Given the description of an element on the screen output the (x, y) to click on. 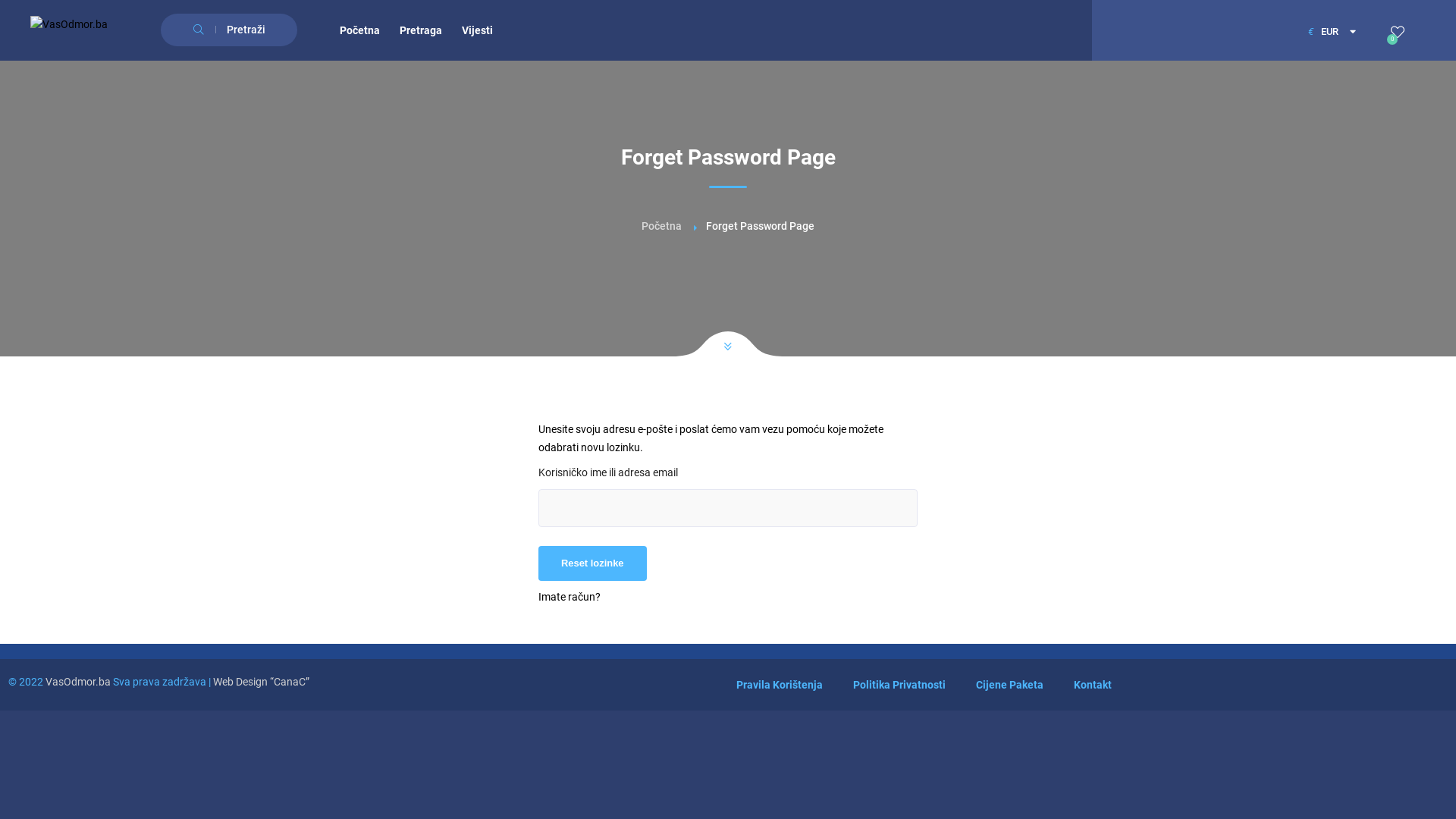
Vijesti Element type: text (477, 30)
Politika Privatnosti Element type: text (898, 684)
VasOdmor.ba Element type: text (77, 681)
Pretraga Element type: text (420, 30)
Reset lozinke Element type: text (592, 563)
Kontakt Element type: text (1092, 684)
Cijene Paketa Element type: text (1009, 684)
